Given the description of an element on the screen output the (x, y) to click on. 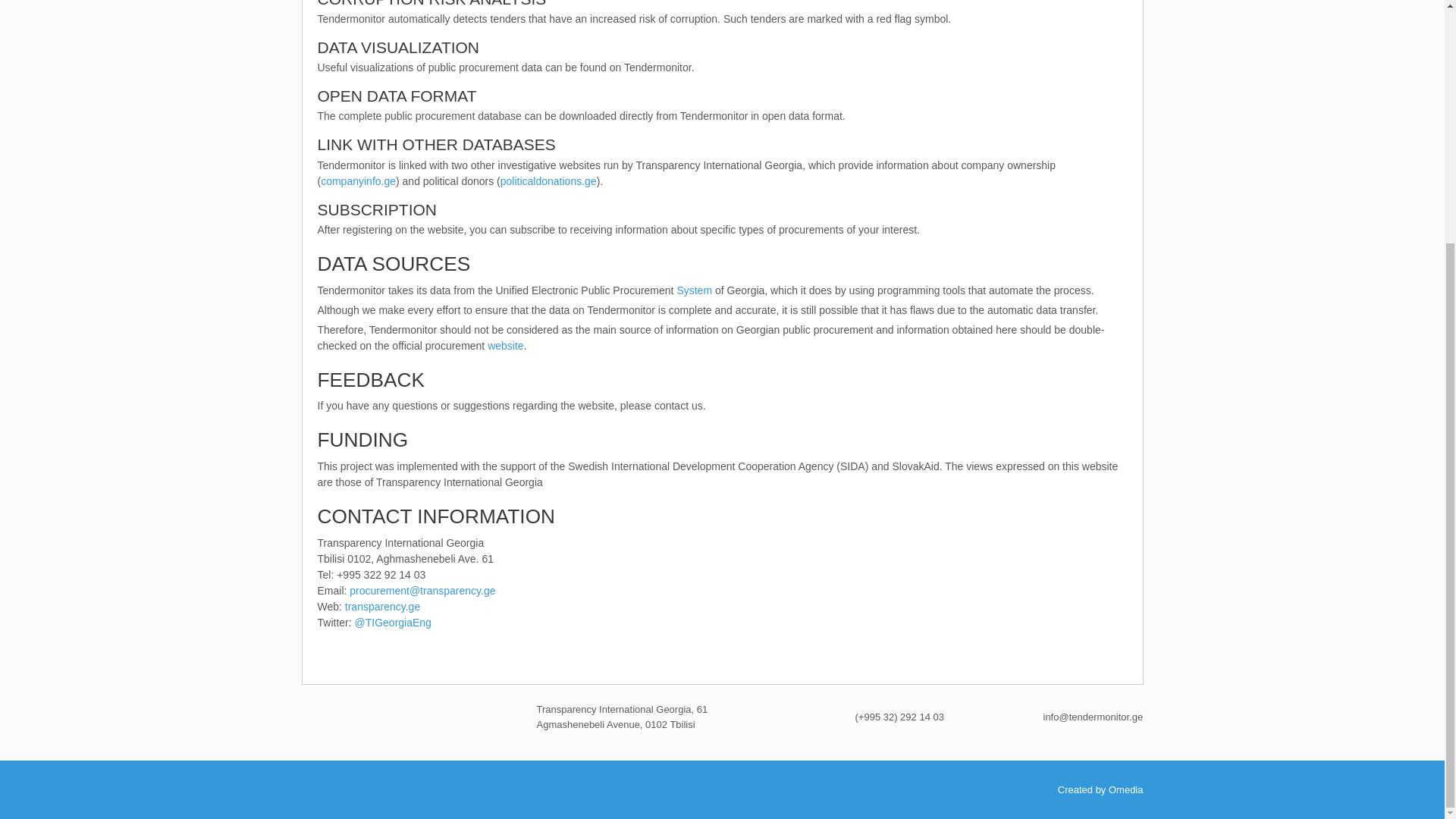
politicaldonations.ge (548, 181)
Created by Omedia (1100, 789)
transparency.ge (382, 606)
companyinfo.ge (358, 181)
System (694, 290)
website (504, 345)
